Given the description of an element on the screen output the (x, y) to click on. 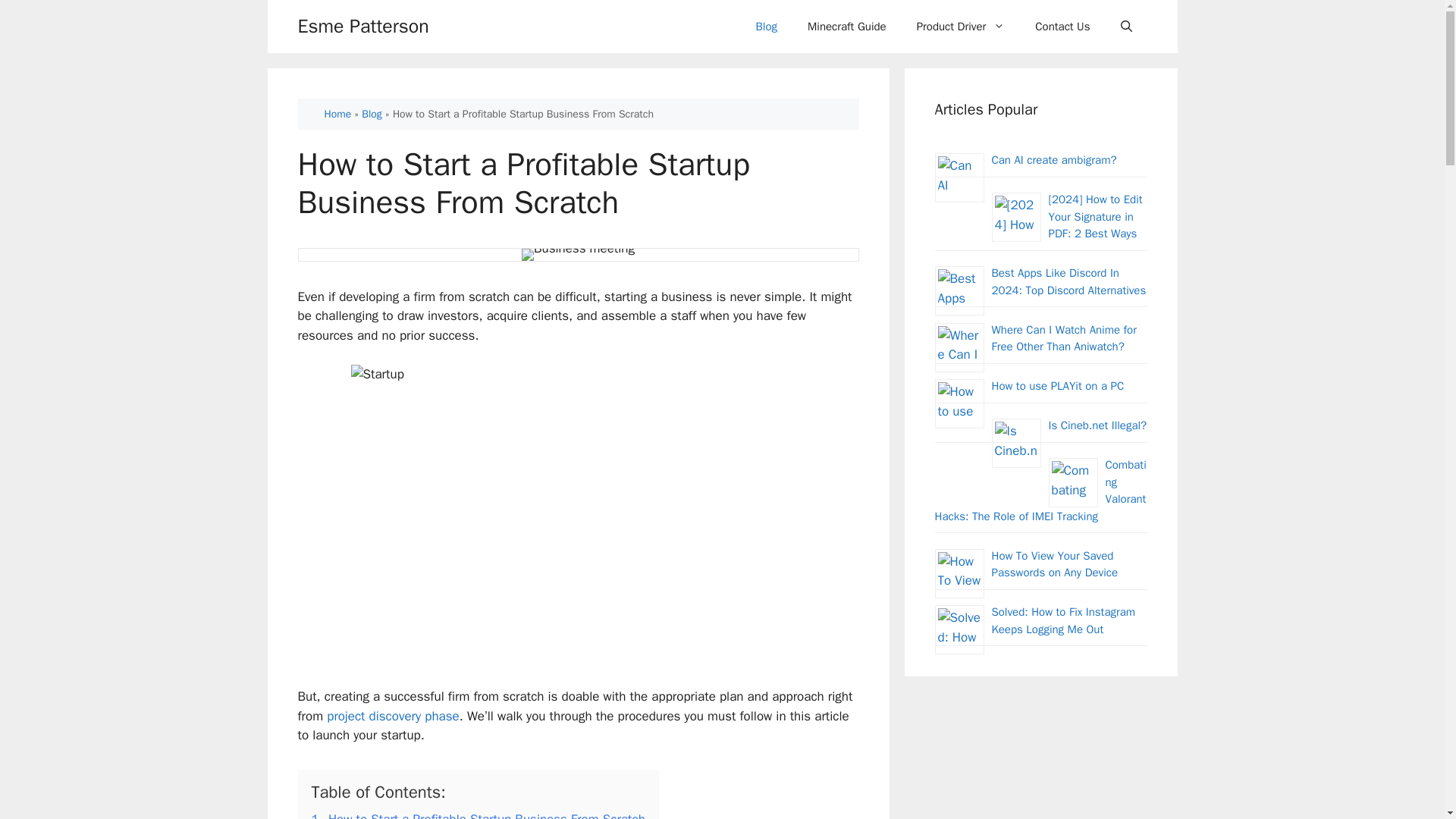
Product Driver (960, 26)
Home (338, 113)
Minecraft Guide (846, 26)
Contact Us (1062, 26)
project discovery phase (393, 715)
Blog (371, 113)
1. How to Start a Profitable Startup Business From Scratch (478, 815)
Blog (766, 26)
Esme Patterson (362, 26)
